Given the description of an element on the screen output the (x, y) to click on. 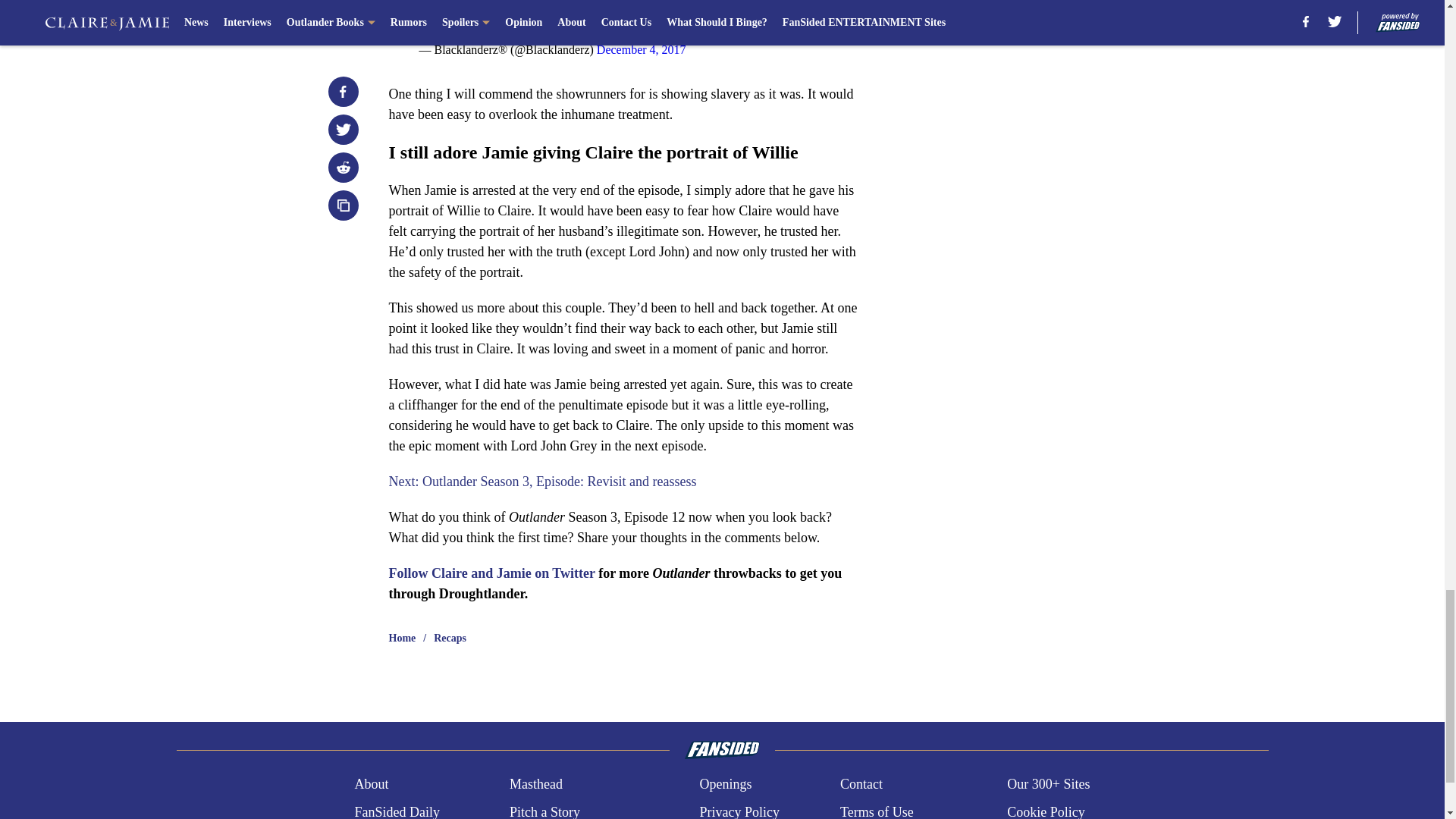
Recaps (449, 638)
Home (401, 638)
Next: Outlander Season 3, Episode: Revisit and reassess (541, 481)
December 4, 2017 (640, 49)
Follow Claire and Jamie on Twitter (491, 572)
